Given the description of an element on the screen output the (x, y) to click on. 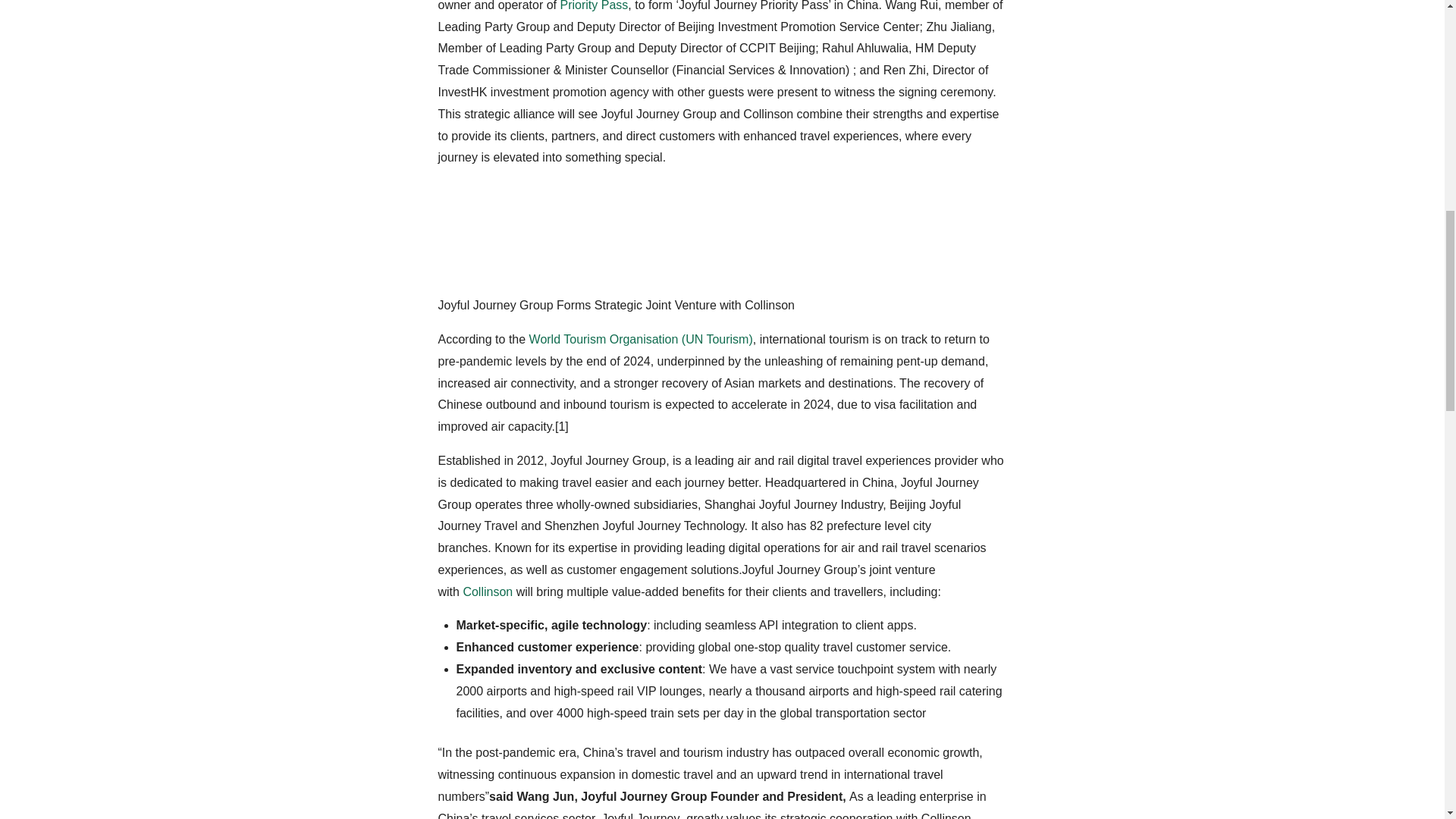
Priority Pass (593, 5)
Collinson (487, 591)
